Given the description of an element on the screen output the (x, y) to click on. 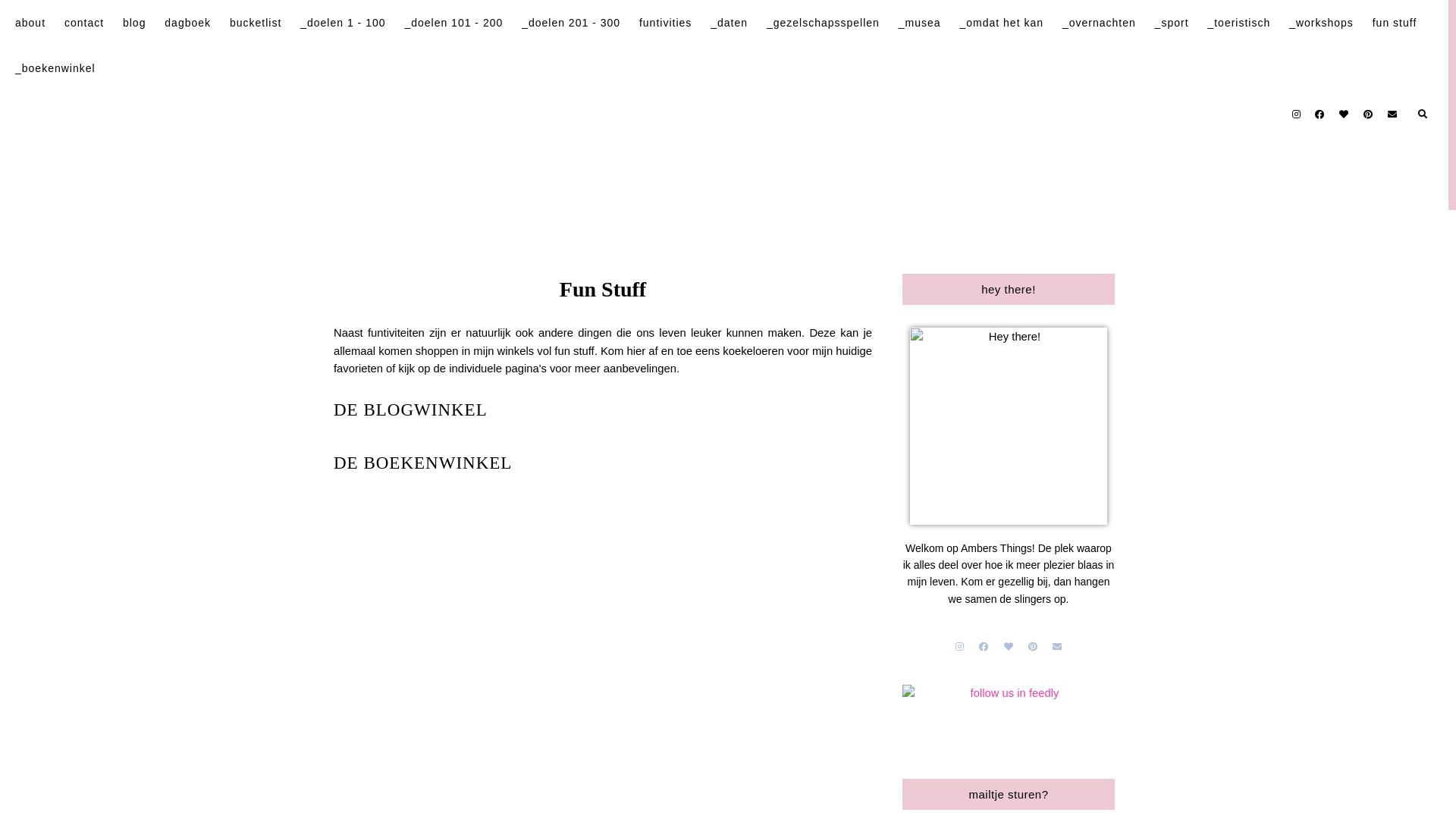
blog Element type: text (133, 22)
_gezelschapsspellen Element type: text (822, 22)
funtivities Element type: text (665, 22)
dagboek Element type: text (187, 22)
_toeristisch Element type: text (1238, 22)
_boekenwinkel Element type: text (55, 68)
fun stuff Element type: text (1394, 22)
bucketlist Element type: text (255, 22)
_doelen 201 - 300 Element type: text (570, 22)
about Element type: text (30, 22)
_doelen 101 - 200 Element type: text (453, 22)
_doelen 1 - 100 Element type: text (342, 22)
contact Element type: text (83, 22)
_overnachten Element type: text (1098, 22)
_workshops Element type: text (1321, 22)
_daten Element type: text (728, 22)
_musea Element type: text (919, 22)
_sport Element type: text (1171, 22)
_omdat het kan Element type: text (1001, 22)
